Given the description of an element on the screen output the (x, y) to click on. 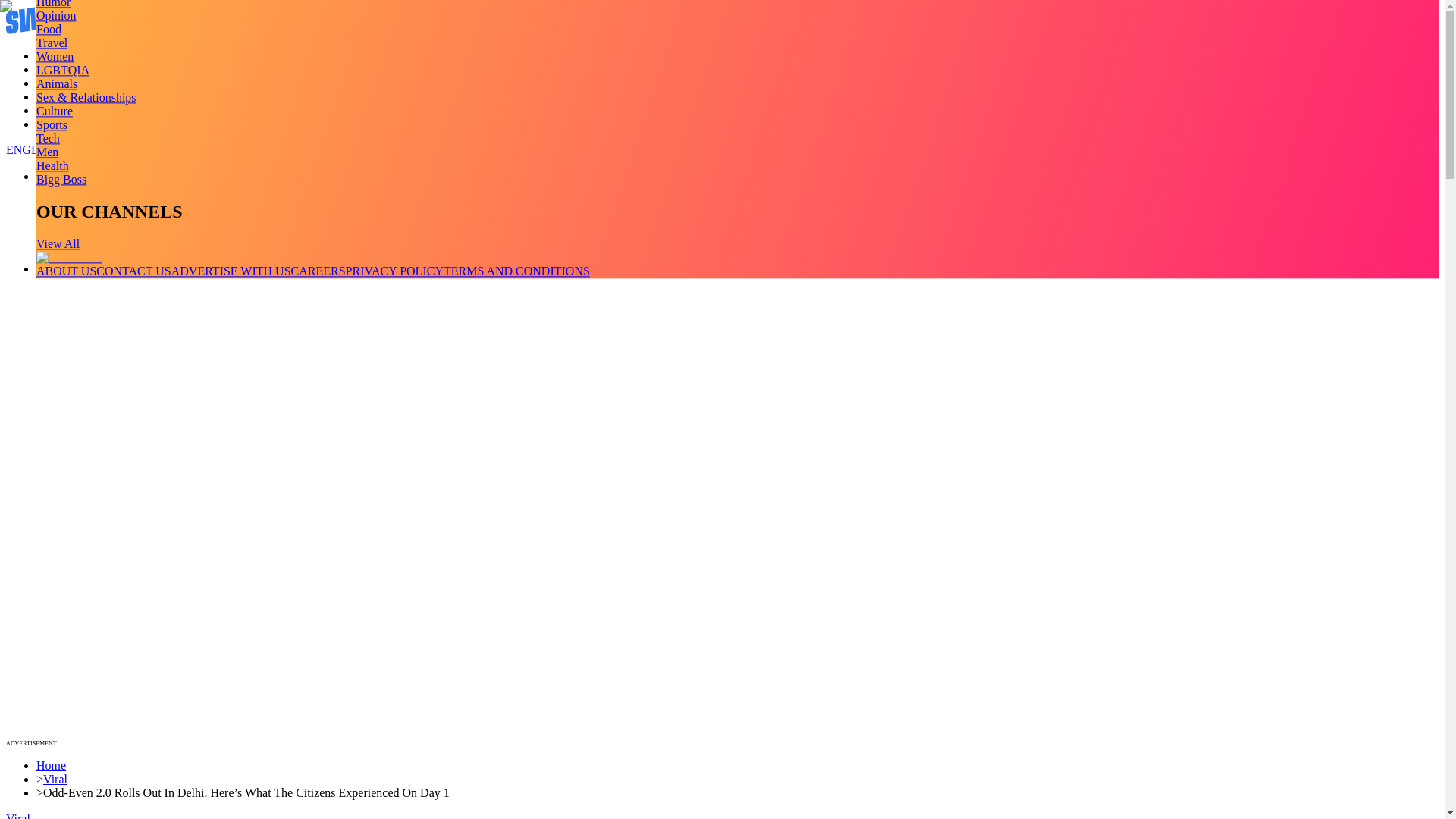
Opinion (55, 15)
Culture (54, 110)
Tech (47, 137)
Men (47, 151)
Sports (51, 124)
Stories (52, 82)
Quizzes (55, 96)
Trending (58, 55)
Food (48, 29)
ENGLISH (31, 149)
ADVERTISE WITH US (231, 270)
Women (55, 56)
Spotlight (58, 123)
CONTACT US (133, 270)
Humor (52, 4)
